Given the description of an element on the screen output the (x, y) to click on. 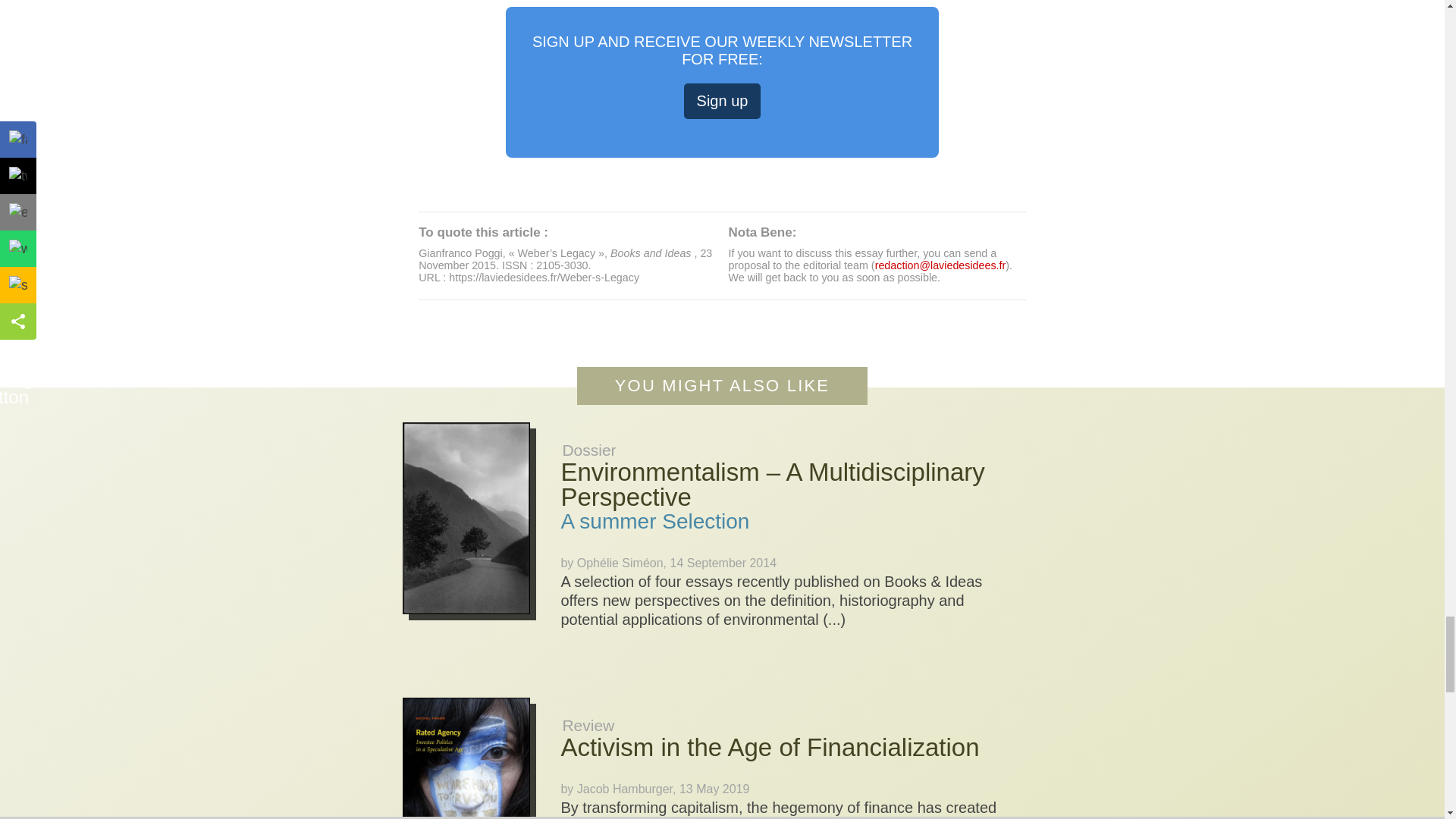
Dossier (588, 449)
Sign up (722, 100)
A summer Selection (654, 521)
Sign up (722, 100)
